Given the description of an element on the screen output the (x, y) to click on. 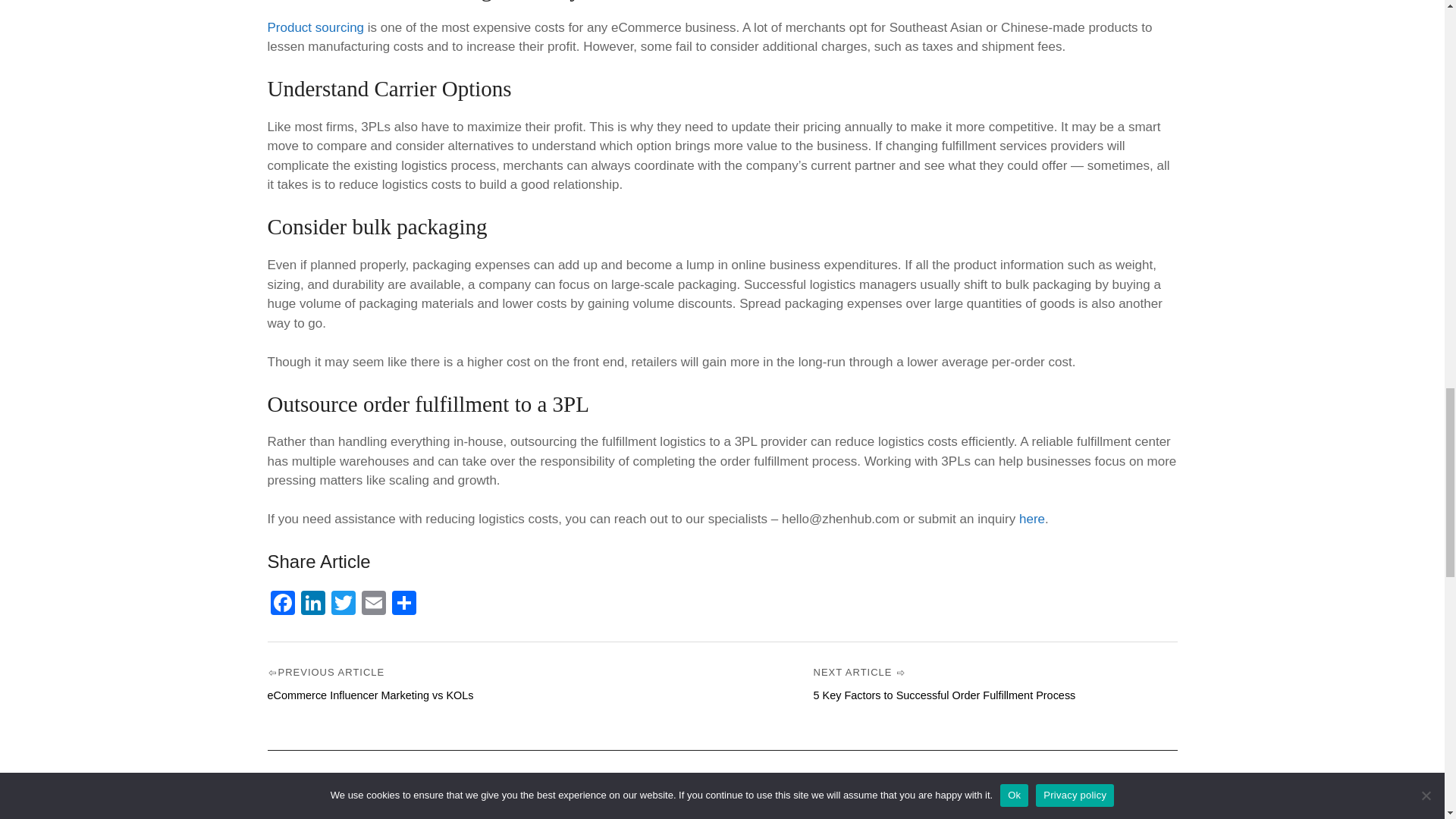
Twitter (342, 604)
Email (373, 604)
Next (943, 695)
Twitter (342, 604)
LinkedIn (312, 604)
Facebook (281, 604)
Email (373, 604)
Share (403, 604)
Product sourcing (315, 27)
Previous (369, 695)
Facebook (281, 604)
here (1029, 518)
LinkedIn (312, 604)
